Given the description of an element on the screen output the (x, y) to click on. 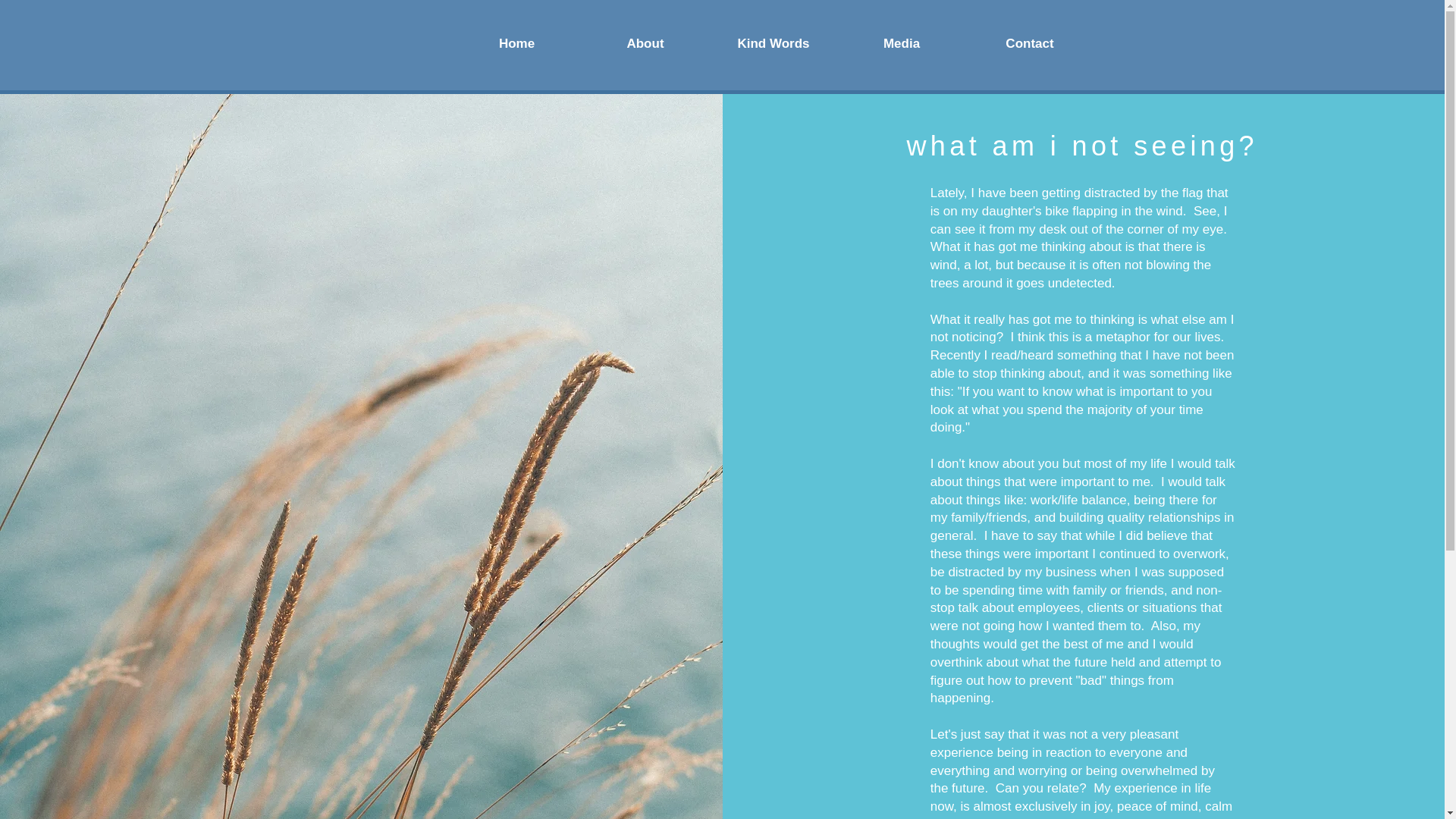
Contact (1030, 43)
About (644, 43)
Kind Words (774, 43)
Media (901, 43)
Home (515, 43)
